Given the description of an element on the screen output the (x, y) to click on. 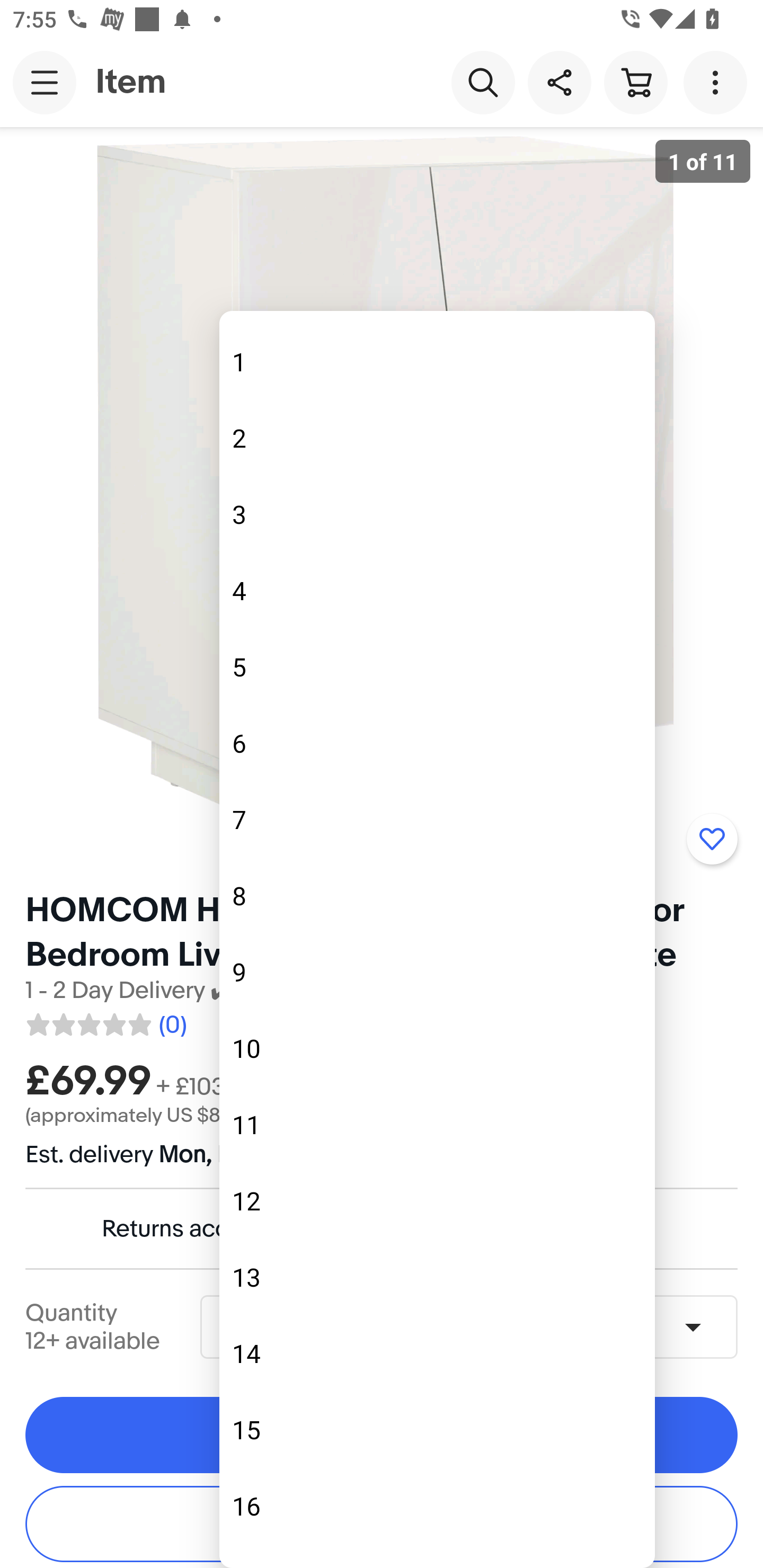
1 (436, 361)
2 (436, 437)
3 (436, 513)
4 (436, 589)
5 (436, 666)
6 (436, 742)
7 (436, 818)
8 (436, 895)
9 (436, 971)
10 (436, 1047)
11 (436, 1124)
12 (436, 1200)
13 (436, 1276)
14 (436, 1353)
15 (436, 1429)
16 (436, 1505)
